Given the description of an element on the screen output the (x, y) to click on. 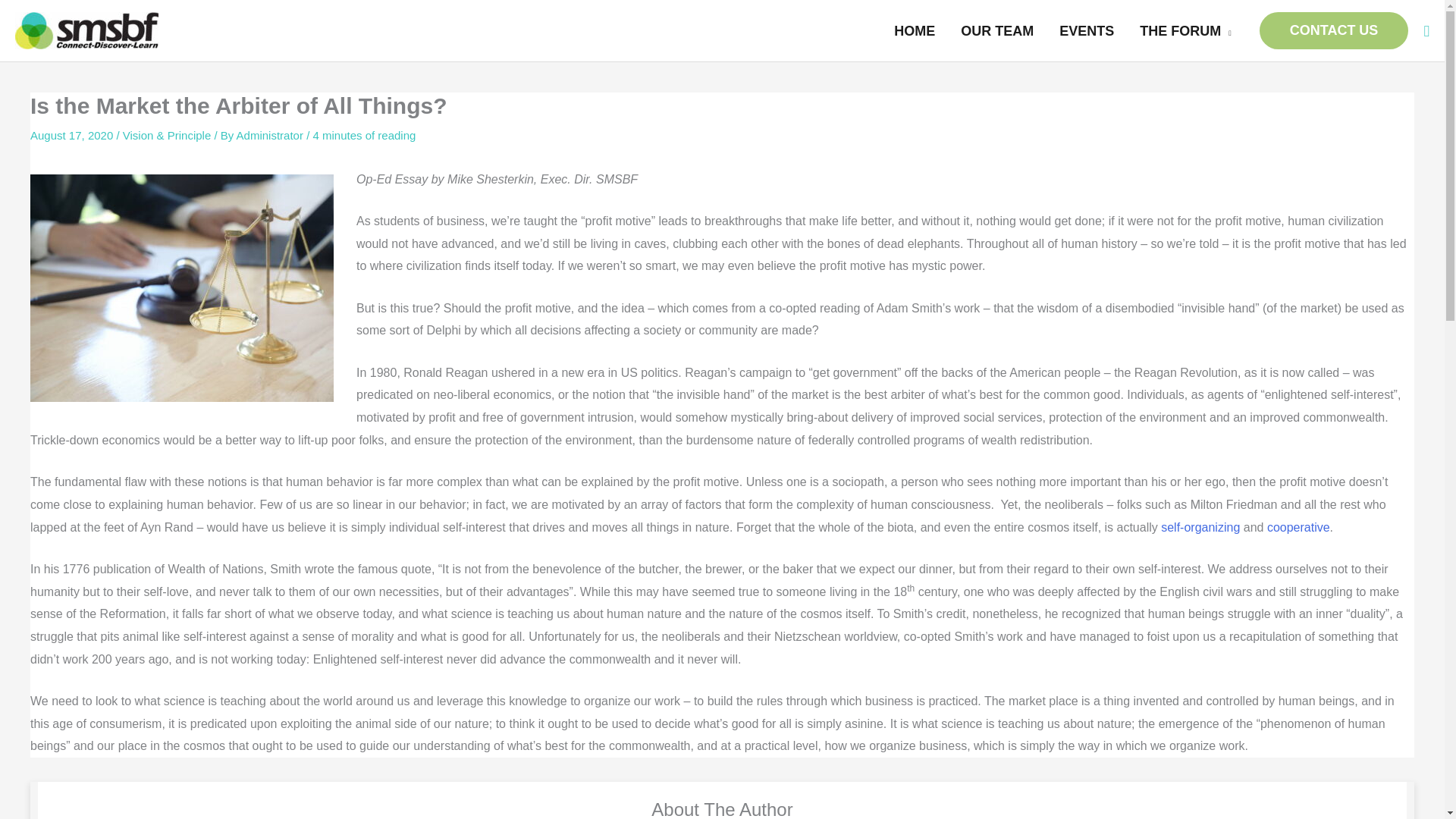
cooperative (1298, 526)
self-organizing (1200, 526)
THE FORUM (1185, 30)
OUR TEAM (996, 30)
Administrator (271, 134)
EVENTS (1086, 30)
CONTACT US (1334, 30)
View all posts by Administrator (271, 134)
HOME (913, 30)
